Given the description of an element on the screen output the (x, y) to click on. 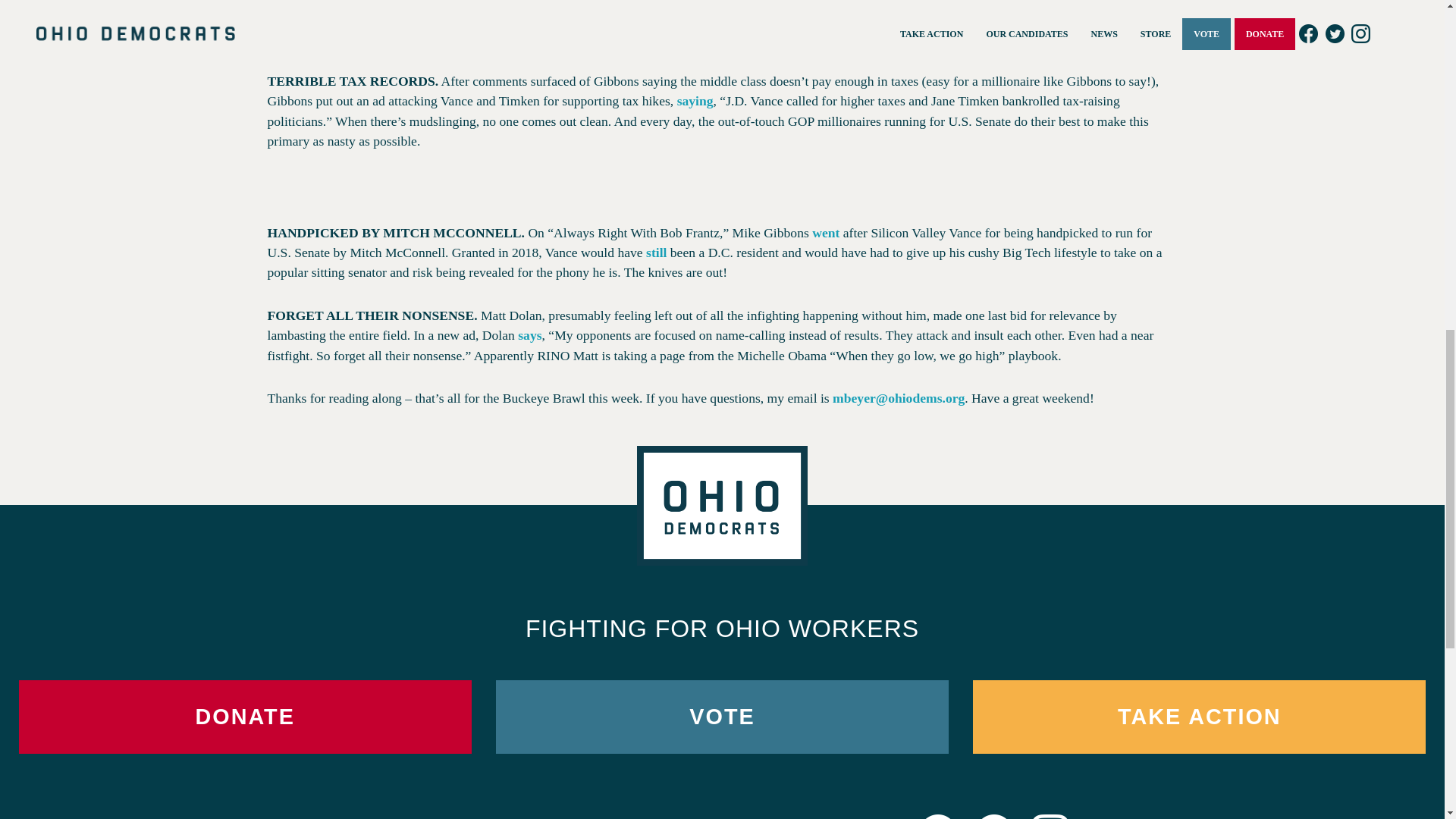
says (529, 335)
new line of attack (326, 17)
saying (695, 100)
TAKE ACTION (1198, 716)
DONATE (243, 716)
went (826, 232)
VOTE (722, 716)
still (656, 252)
